Given the description of an element on the screen output the (x, y) to click on. 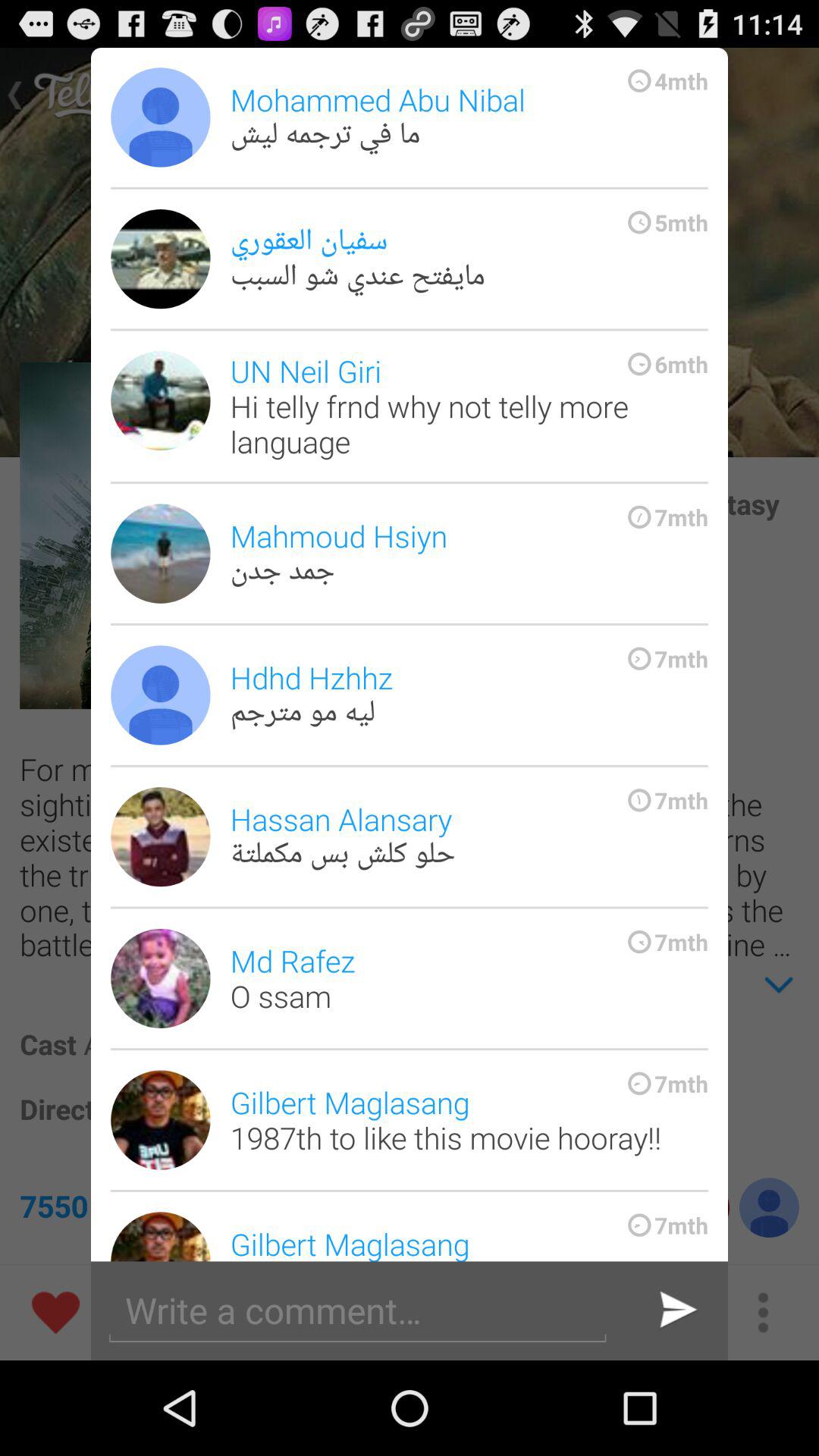
swipe to mohammed abu nibal item (469, 117)
